Given the description of an element on the screen output the (x, y) to click on. 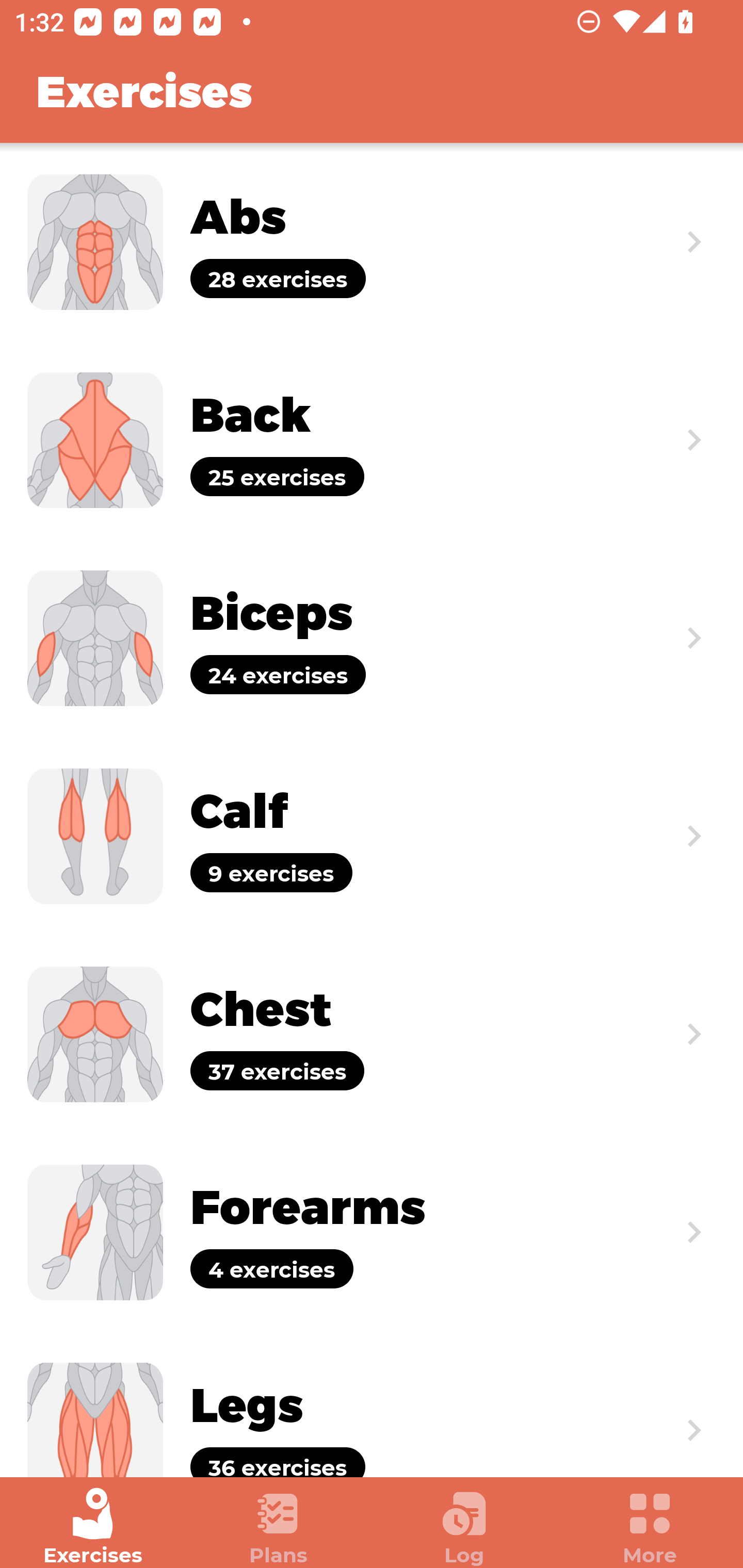
Exercise Abs 28 exercises (371, 241)
Exercise Back 25 exercises (371, 439)
Exercise Biceps 24 exercises (371, 637)
Exercise Calf 9 exercises (371, 836)
Exercise Chest 37 exercises (371, 1033)
Exercise Forearms 4 exercises (371, 1232)
Exercise Legs 36 exercises (371, 1404)
Exercises (92, 1527)
Plans (278, 1527)
Log (464, 1527)
More (650, 1527)
